Given the description of an element on the screen output the (x, y) to click on. 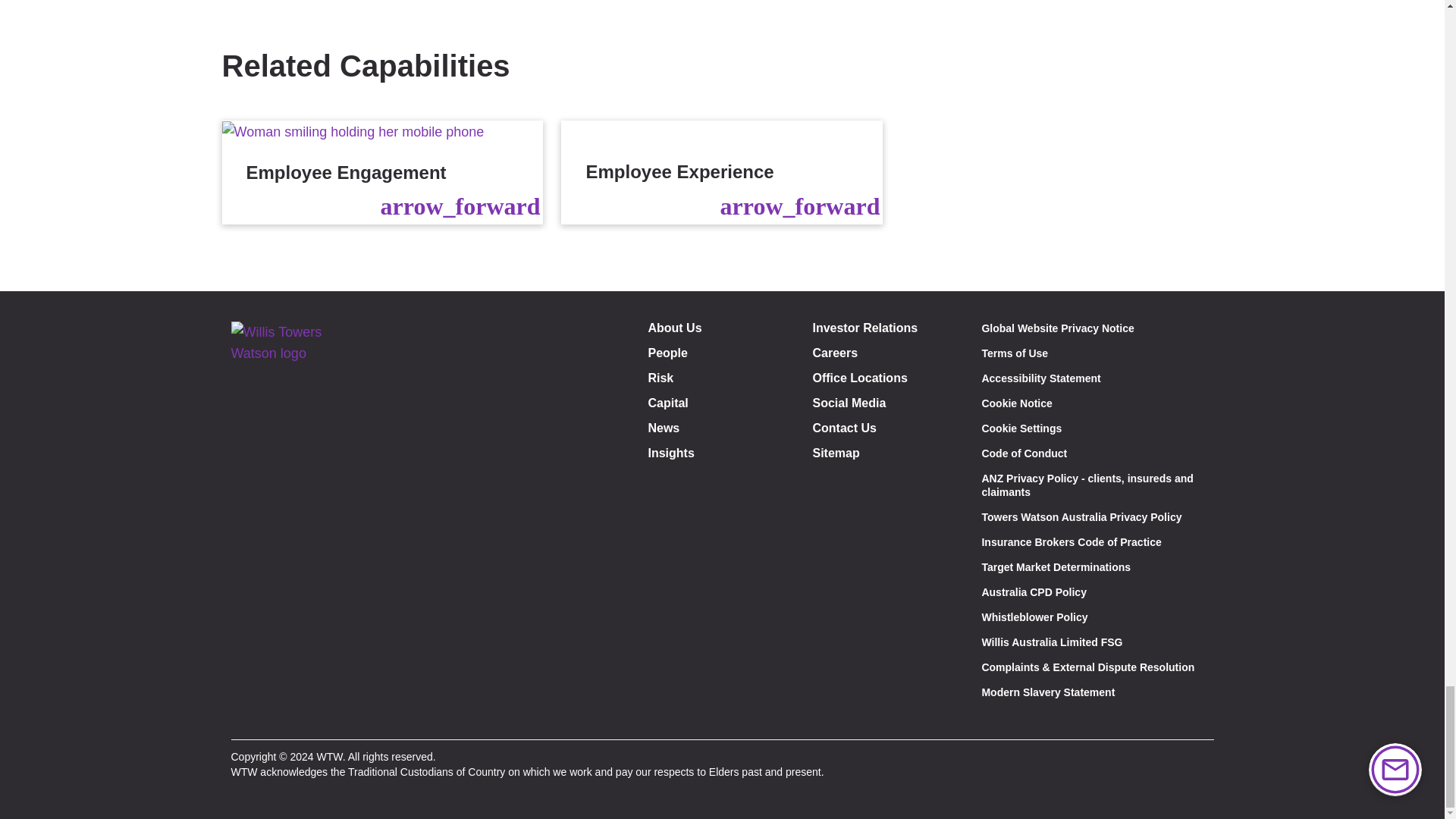
Facebook (252, 716)
Linkedin (287, 716)
Employee Experience (721, 172)
Employee Engagement (382, 172)
Instagram (320, 716)
